Given the description of an element on the screen output the (x, y) to click on. 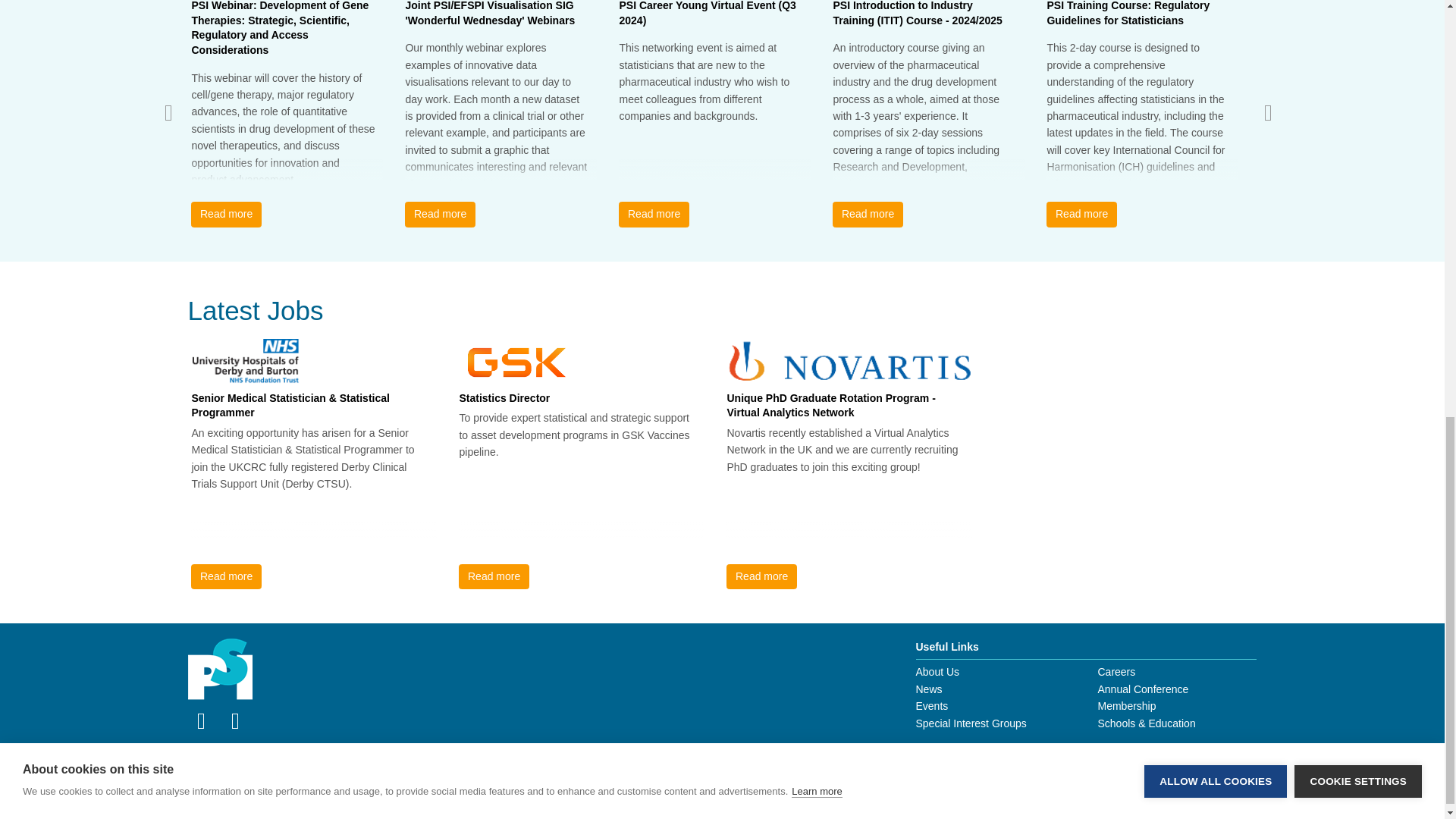
PSI (219, 670)
